Given the description of an element on the screen output the (x, y) to click on. 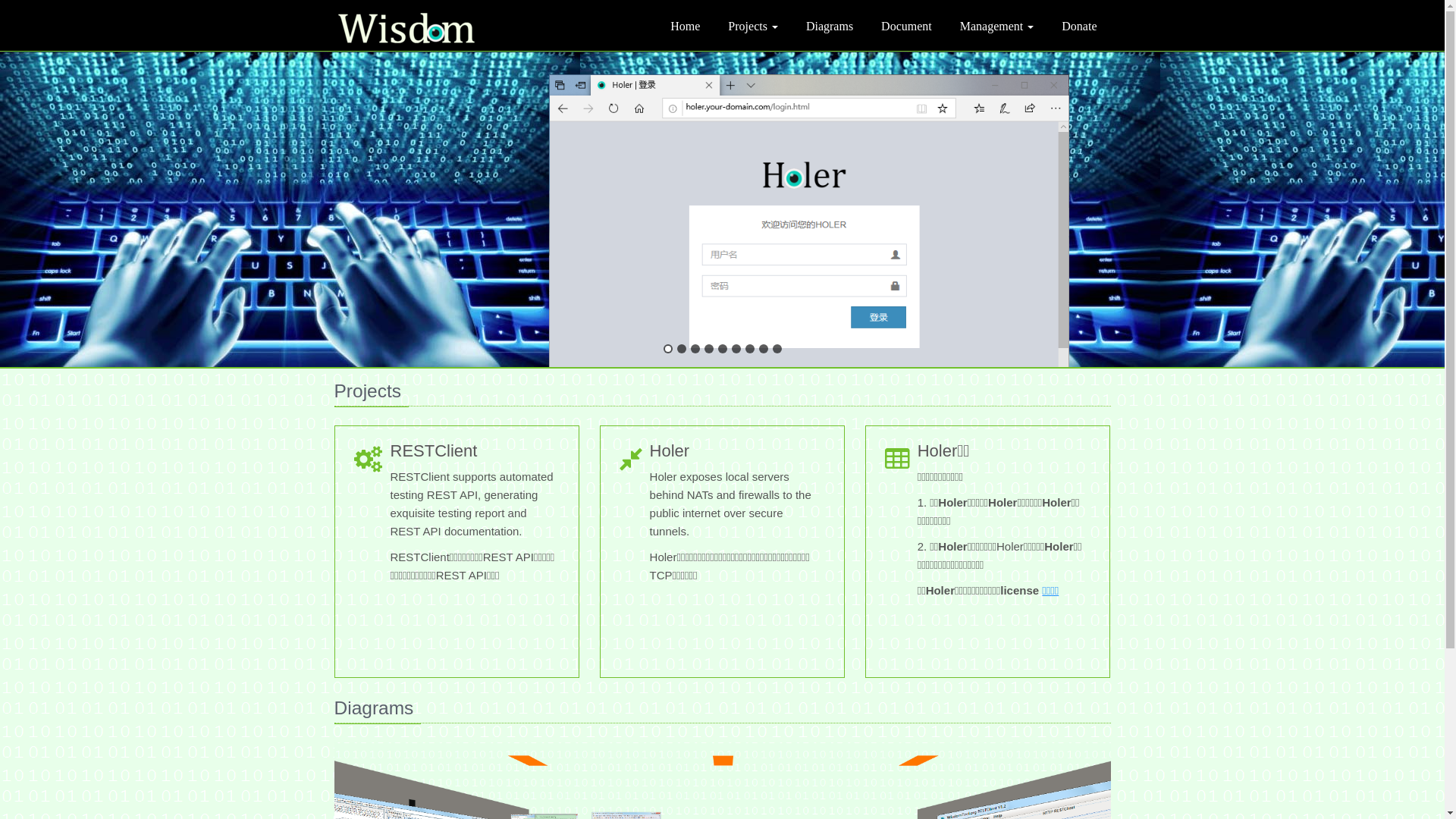
Diagrams Element type: text (829, 25)
Document Element type: text (906, 25)
Donate Element type: text (1079, 25)
Management Element type: text (997, 25)
Projects Element type: text (752, 25)
Home Element type: text (684, 25)
